Given the description of an element on the screen output the (x, y) to click on. 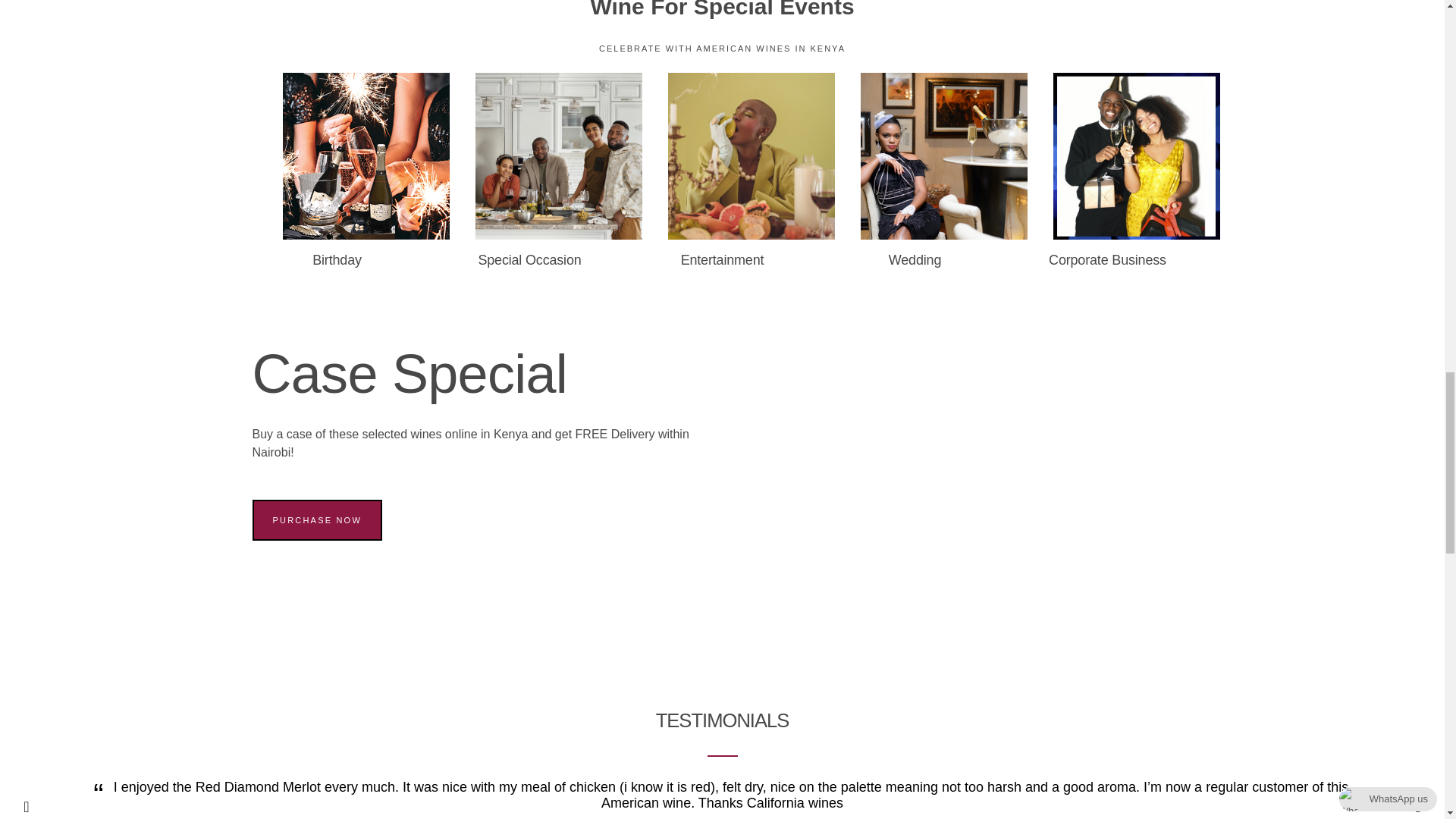
PURCHASE NOW (316, 519)
Birthday (337, 259)
Purchase Now (316, 519)
